Given the description of an element on the screen output the (x, y) to click on. 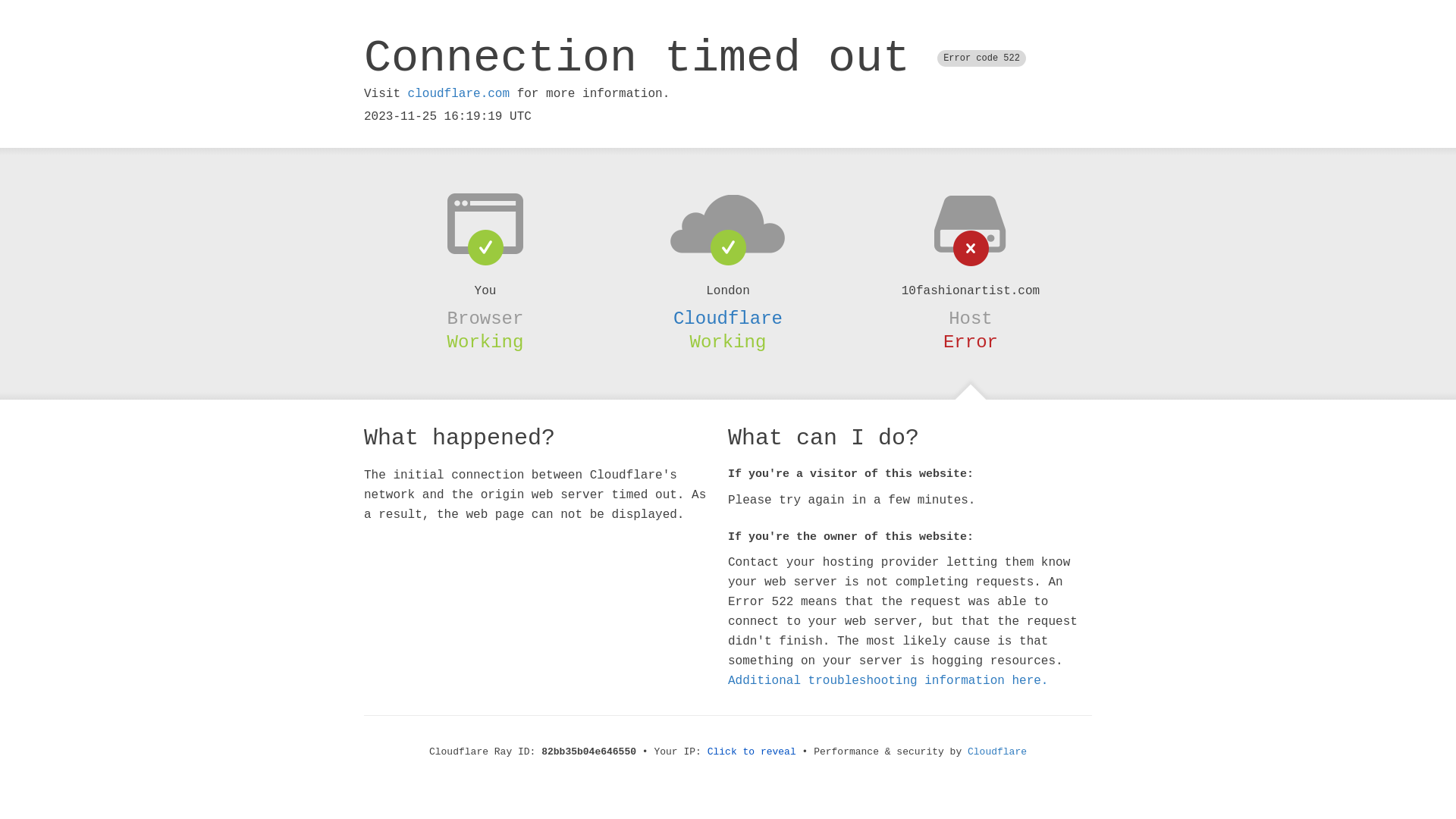
Cloudflare Element type: text (727, 318)
Cloudflare Element type: text (996, 751)
Additional troubleshooting information here. Element type: text (888, 680)
Click to reveal Element type: text (751, 751)
cloudflare.com Element type: text (458, 93)
